Given the description of an element on the screen output the (x, y) to click on. 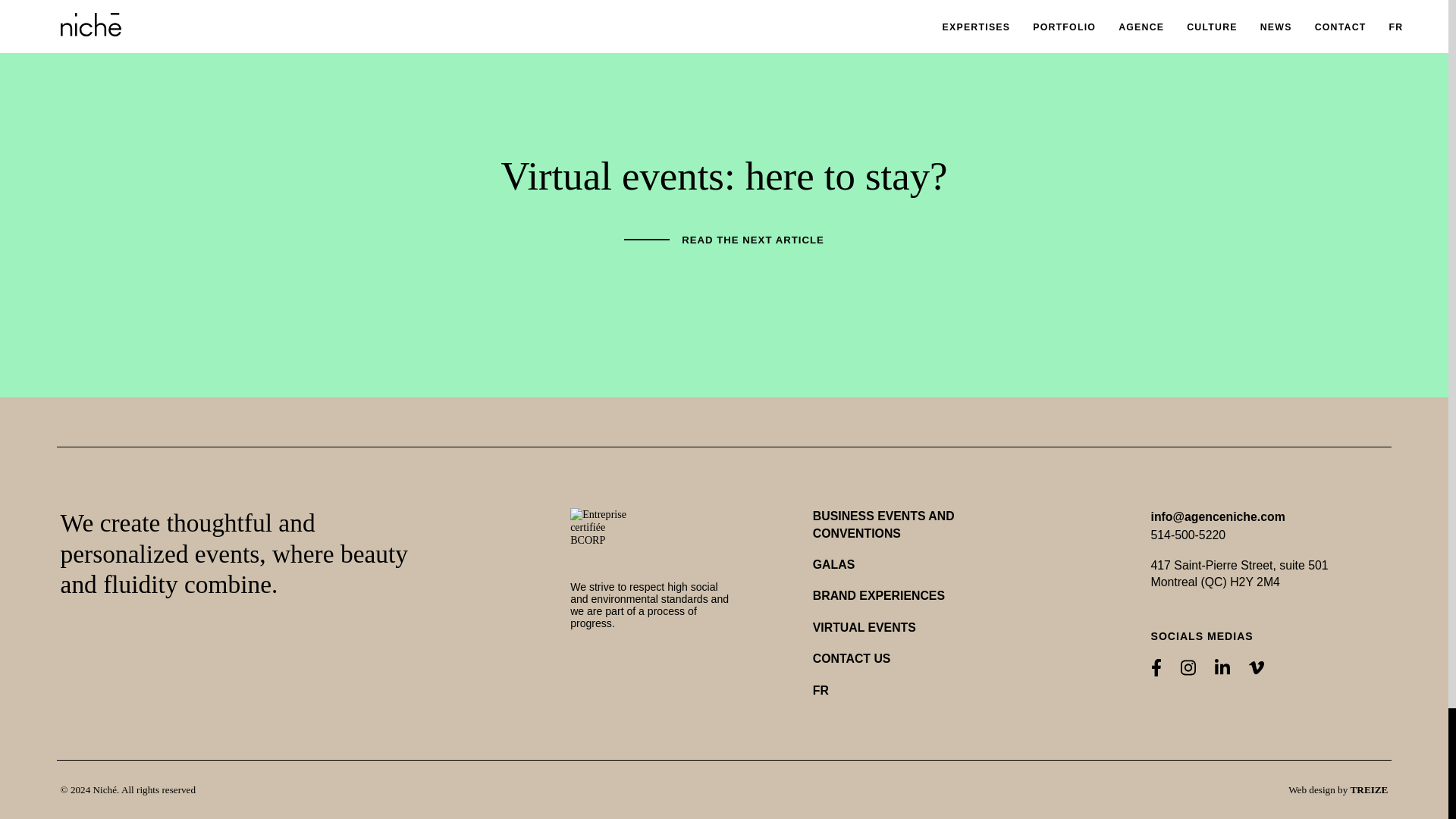
FR (820, 690)
GALAS (833, 564)
BUSINESS EVENTS AND CONVENTIONS (911, 524)
514-500-5220 (1188, 535)
READ THE NEXT ARTICLE (724, 239)
VIRTUAL EVENTS (863, 627)
BRAND EXPERIENCES (878, 596)
FR (820, 690)
CONTACT US (851, 658)
